Given the description of an element on the screen output the (x, y) to click on. 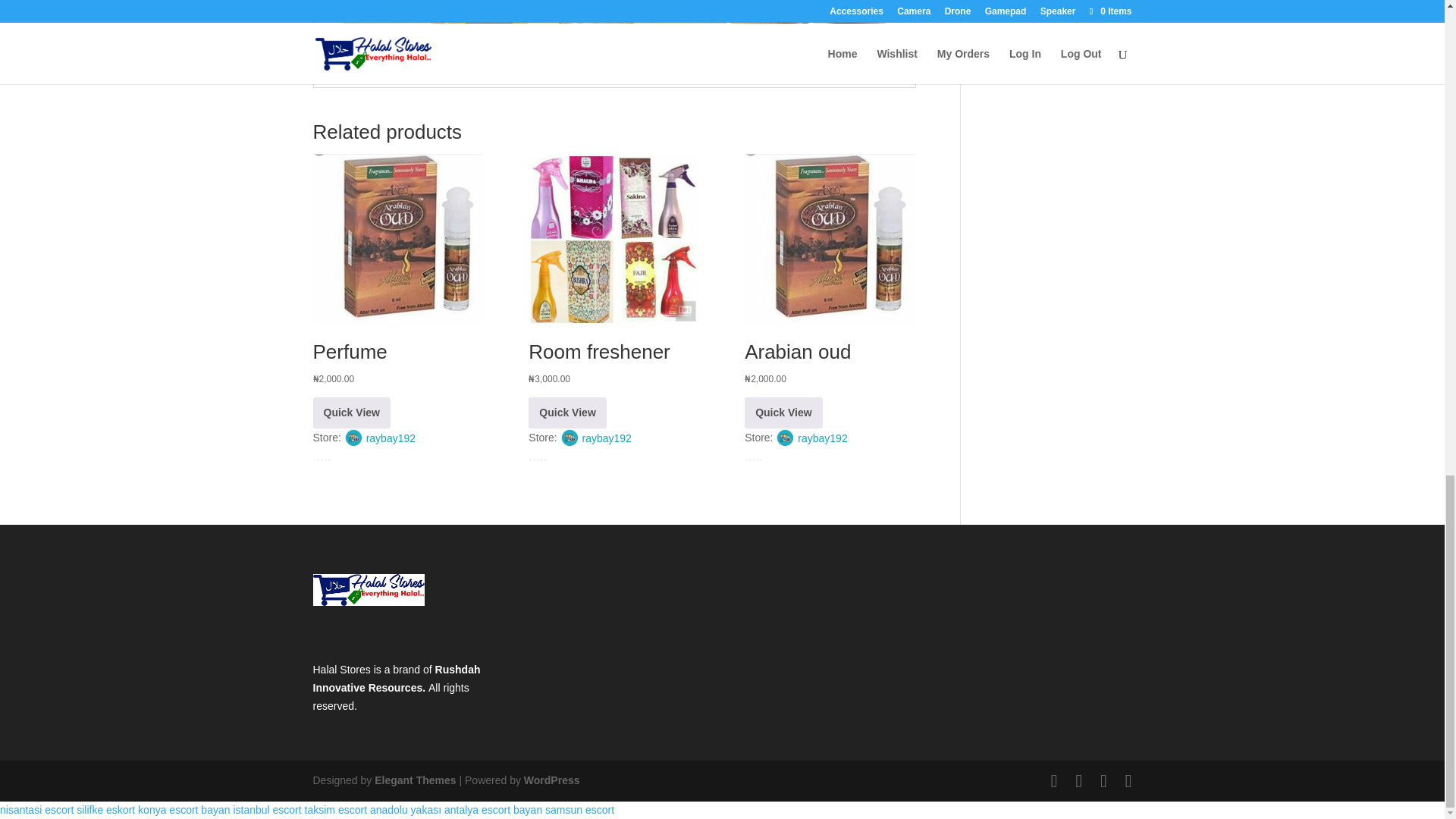
No reviews yet! (344, 456)
Premium WordPress Themes (414, 779)
No reviews yet! (776, 456)
No reviews yet! (560, 456)
